Given the description of an element on the screen output the (x, y) to click on. 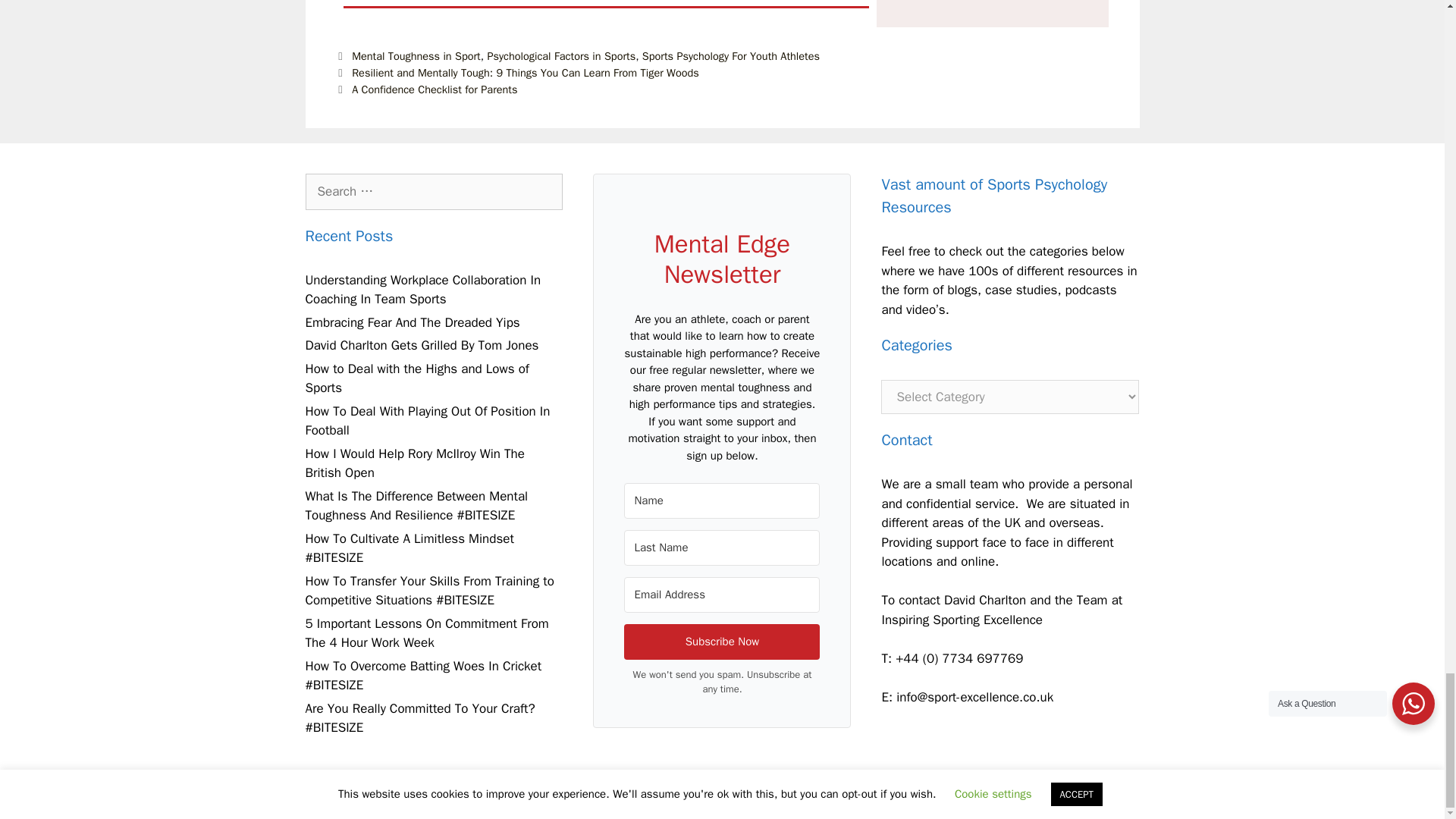
Search for: (433, 191)
